Given the description of an element on the screen output the (x, y) to click on. 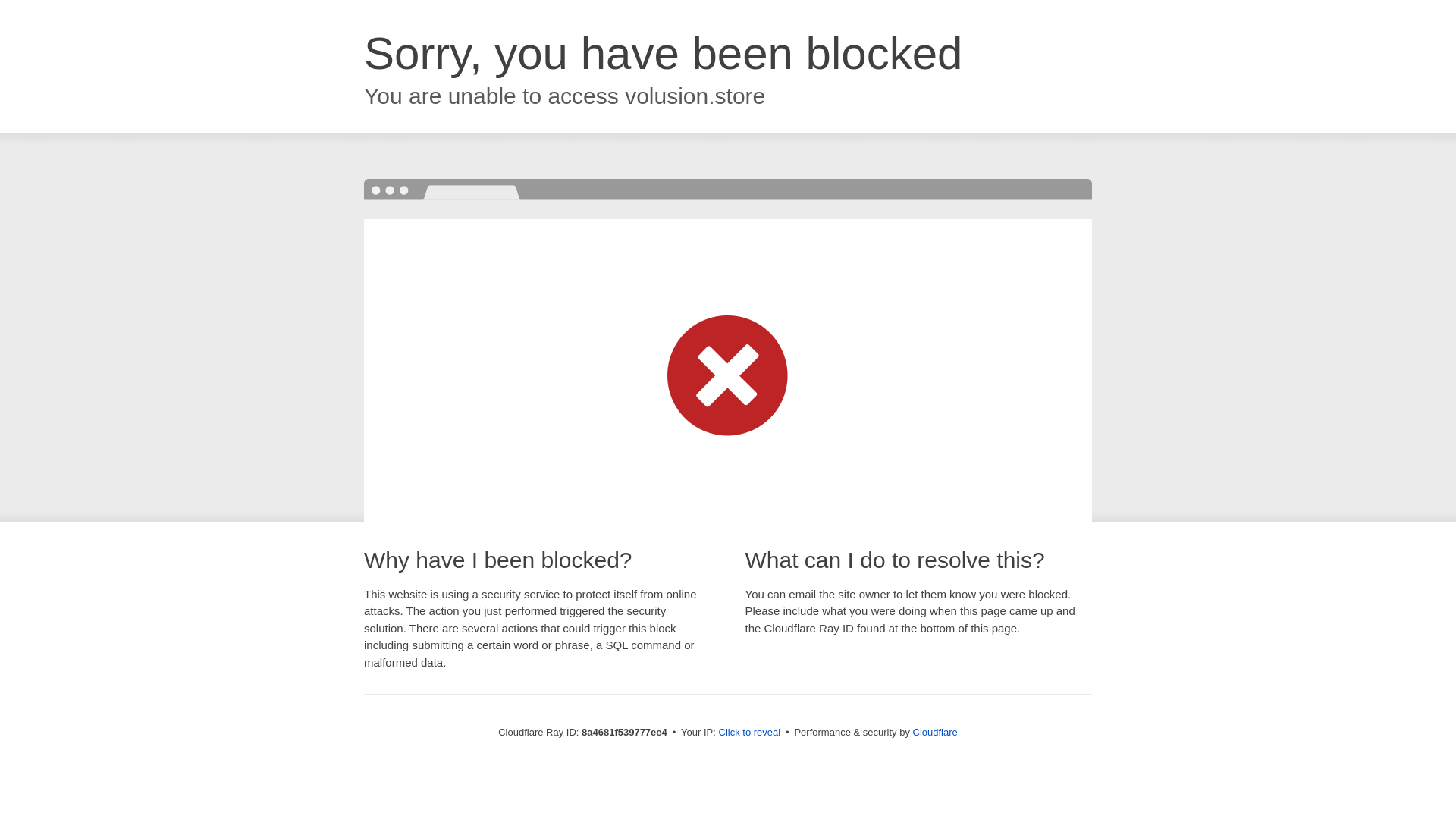
Click to reveal (749, 732)
Cloudflare (935, 731)
